Given the description of an element on the screen output the (x, y) to click on. 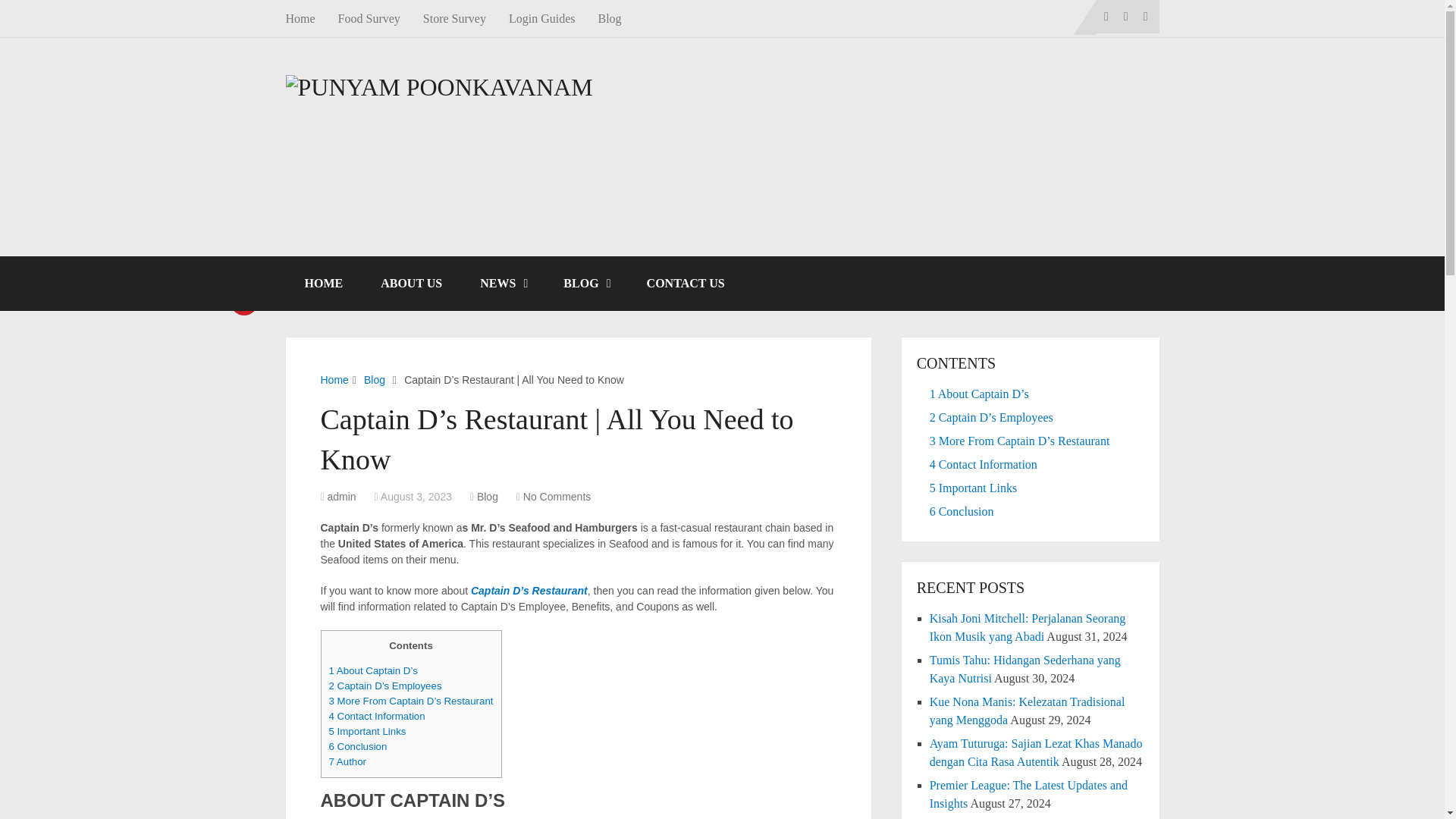
Posts by admin (341, 496)
ABOUT US (411, 283)
7 Author (347, 761)
Store Survey (454, 18)
HOME (323, 283)
Blog (374, 379)
View all posts in Blog (487, 496)
NEWS (502, 283)
4 Contact Information (377, 715)
6 Conclusion (358, 746)
